Given the description of an element on the screen output the (x, y) to click on. 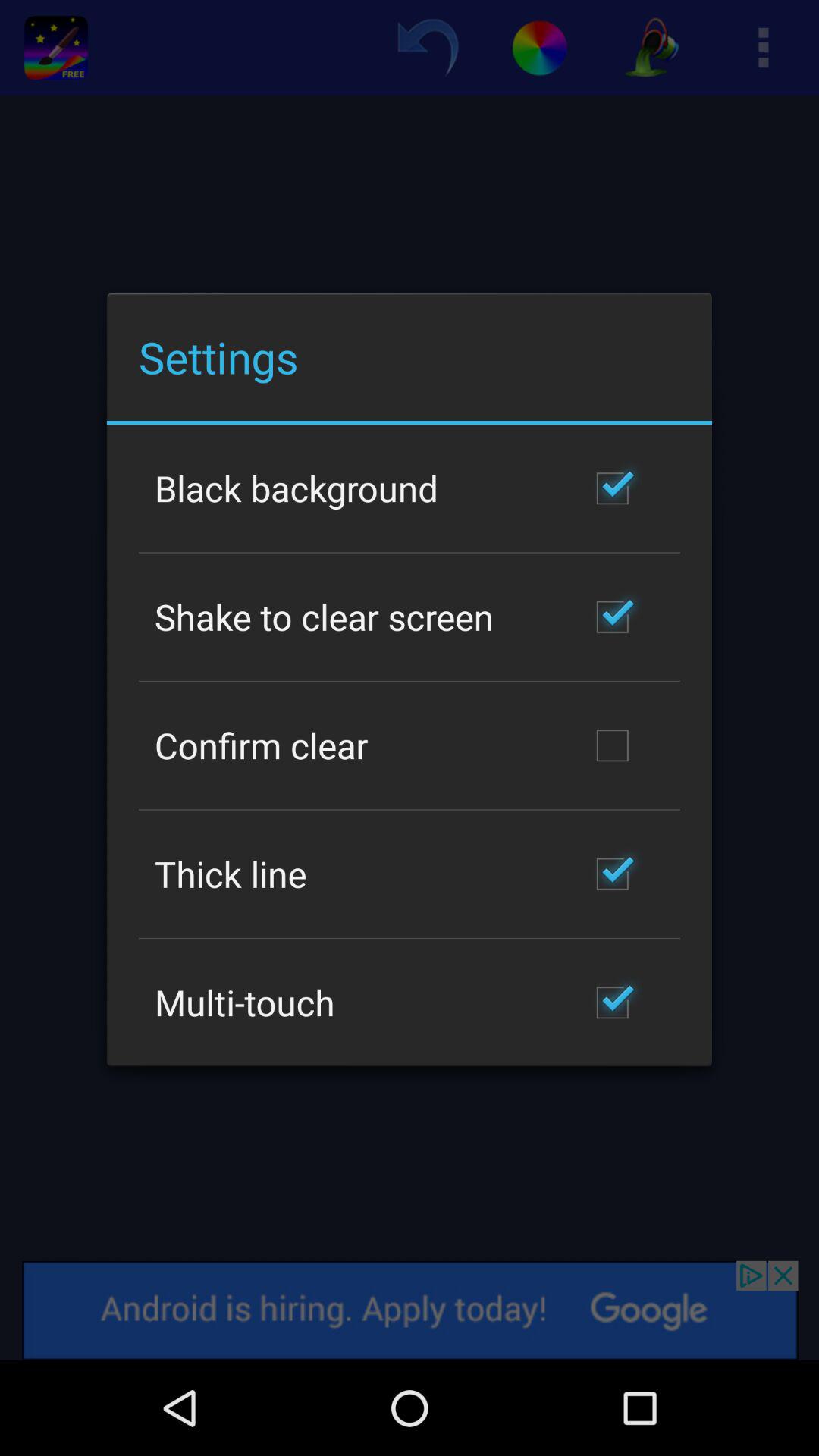
flip to the confirm clear icon (260, 745)
